Given the description of an element on the screen output the (x, y) to click on. 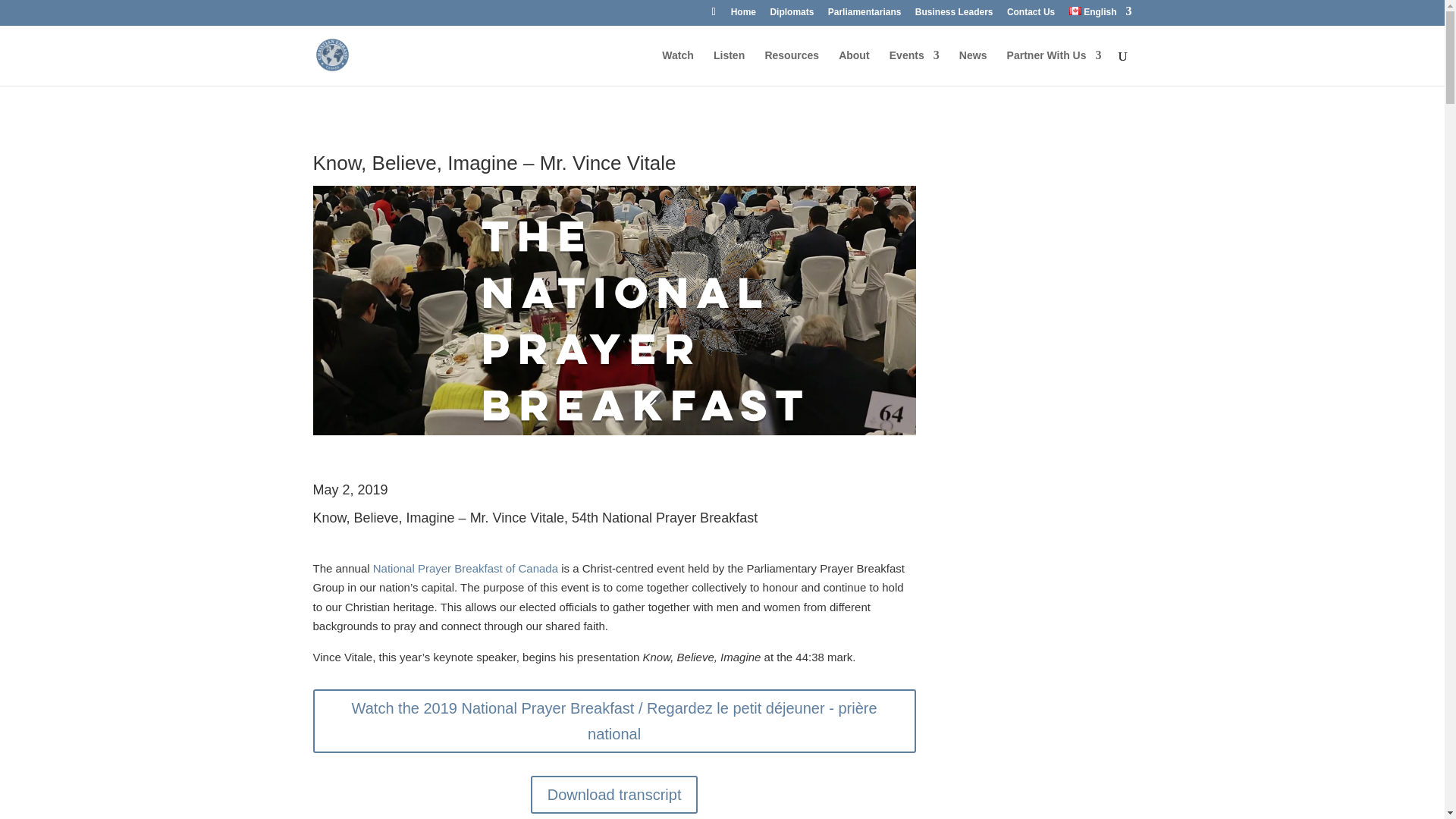
54th National Prayer Breakfast (664, 517)
Business Leaders (953, 15)
Parliamentarians (864, 15)
Diplomats (791, 15)
Partner With Us (1054, 67)
English (1100, 14)
Events (914, 67)
Resources (791, 67)
Home (742, 15)
Contact Us (1030, 15)
